Given the description of an element on the screen output the (x, y) to click on. 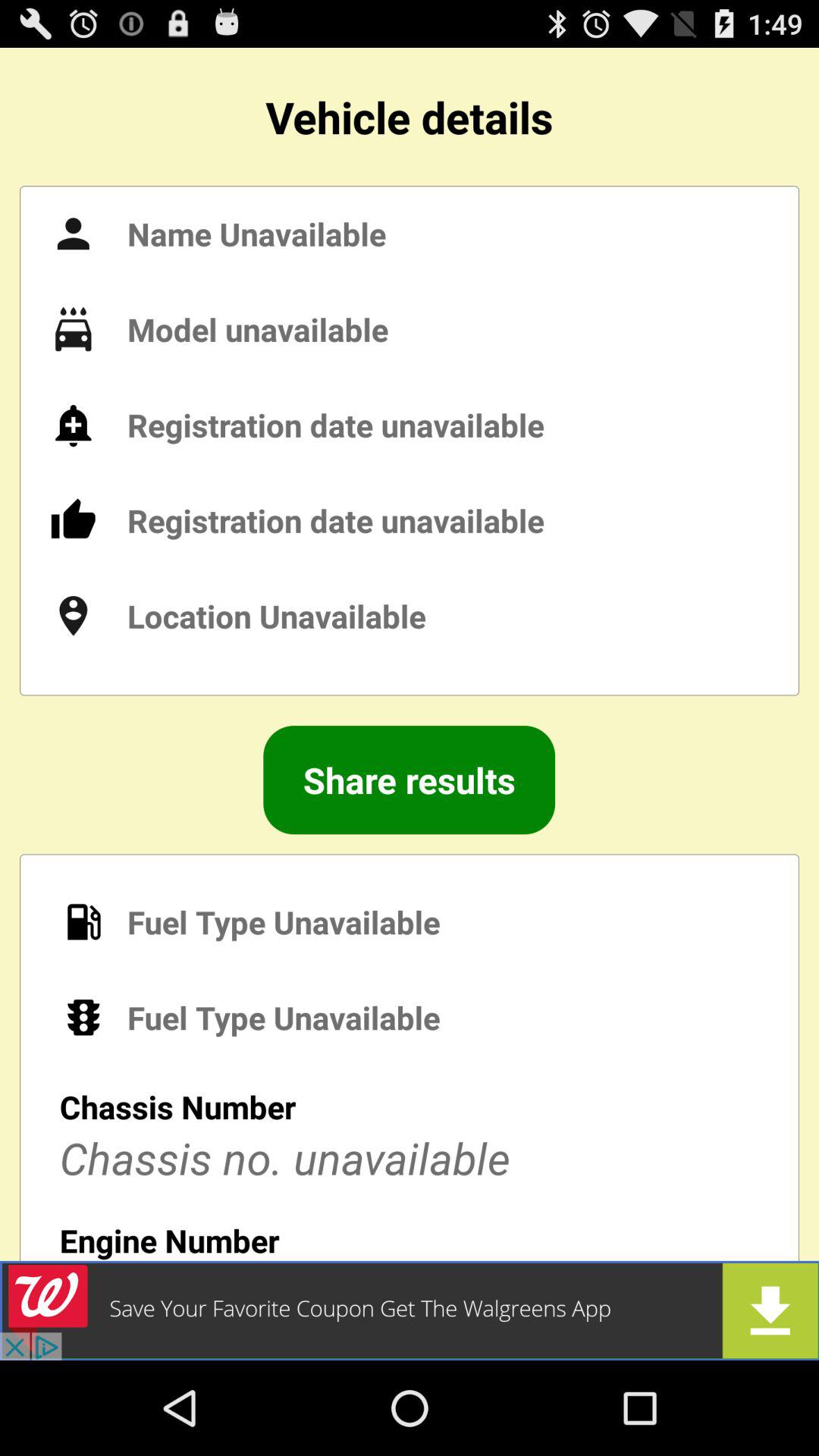
click on the share results text option (408, 779)
